Given the description of an element on the screen output the (x, y) to click on. 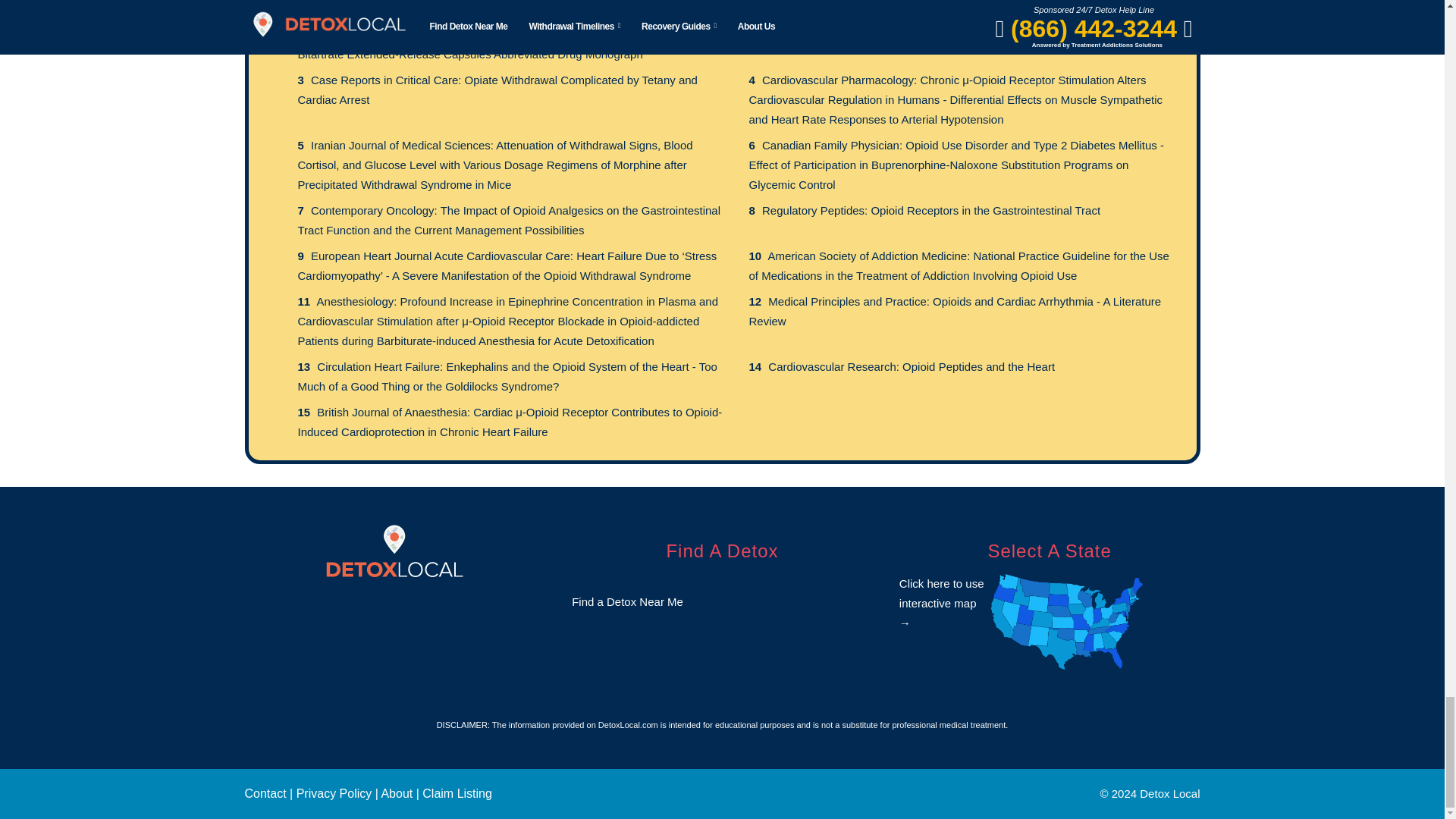
StatPearls: Hydrocodone and Acetaminophen (876, 33)
